Given the description of an element on the screen output the (x, y) to click on. 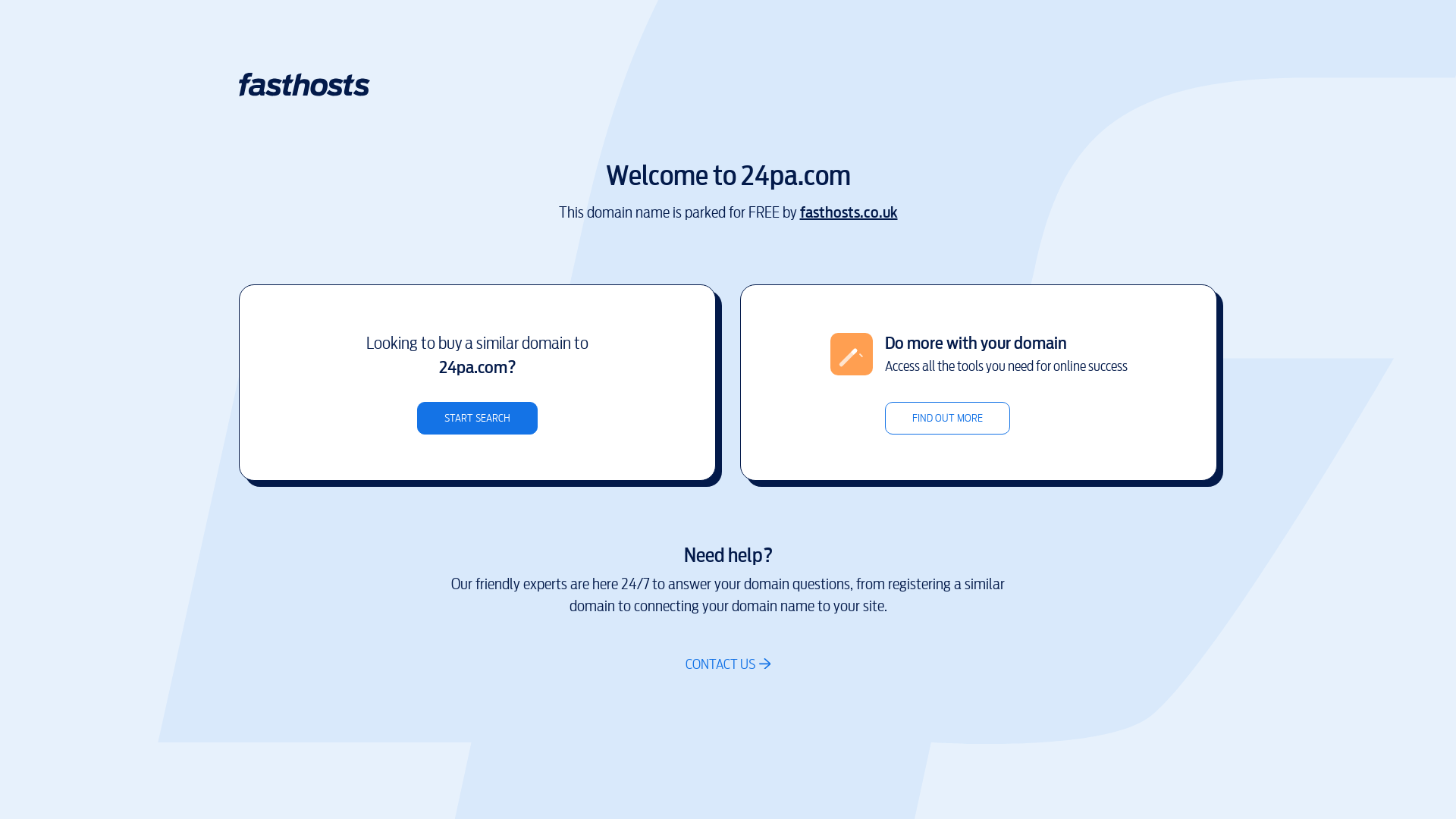
START SEARCH Element type: text (477, 417)
fasthosts.co.uk Element type: text (848, 212)
FIND OUT MORE Element type: text (946, 417)
CONTACT US Element type: text (727, 663)
